Given the description of an element on the screen output the (x, y) to click on. 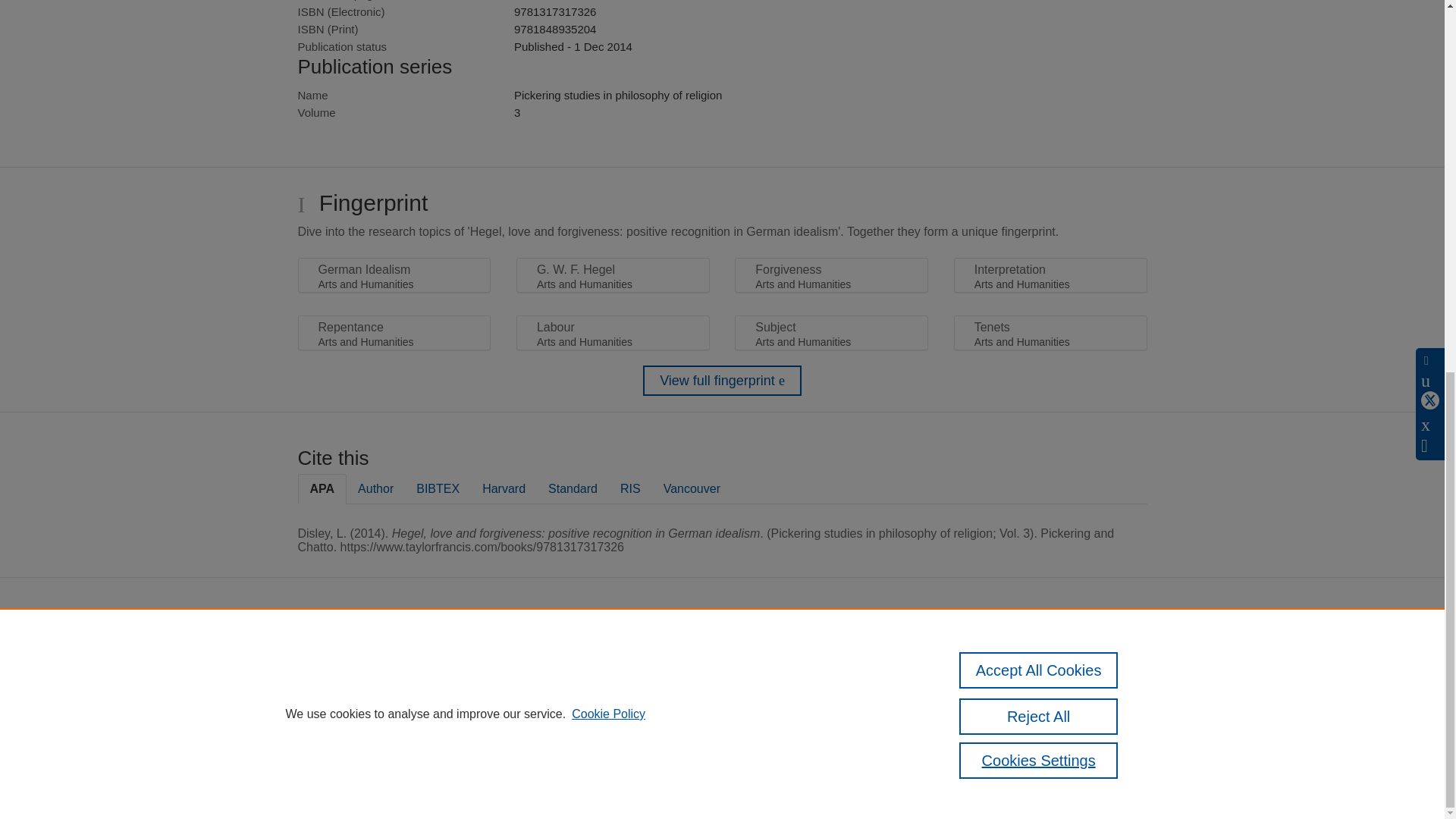
View full fingerprint (722, 380)
Pure (620, 653)
Scopus (652, 653)
